Given the description of an element on the screen output the (x, y) to click on. 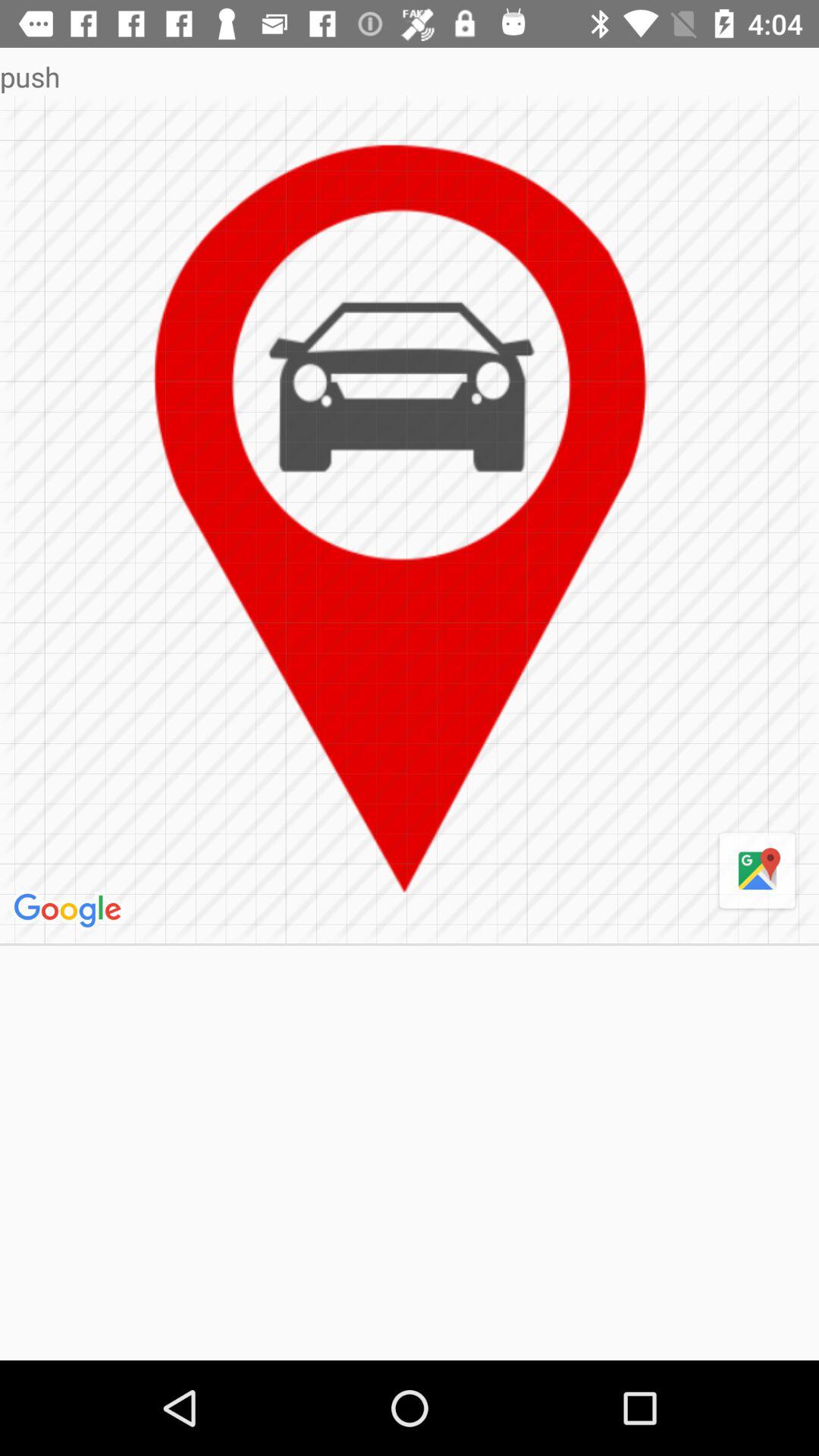
press icon below the push item (409, 519)
